Given the description of an element on the screen output the (x, y) to click on. 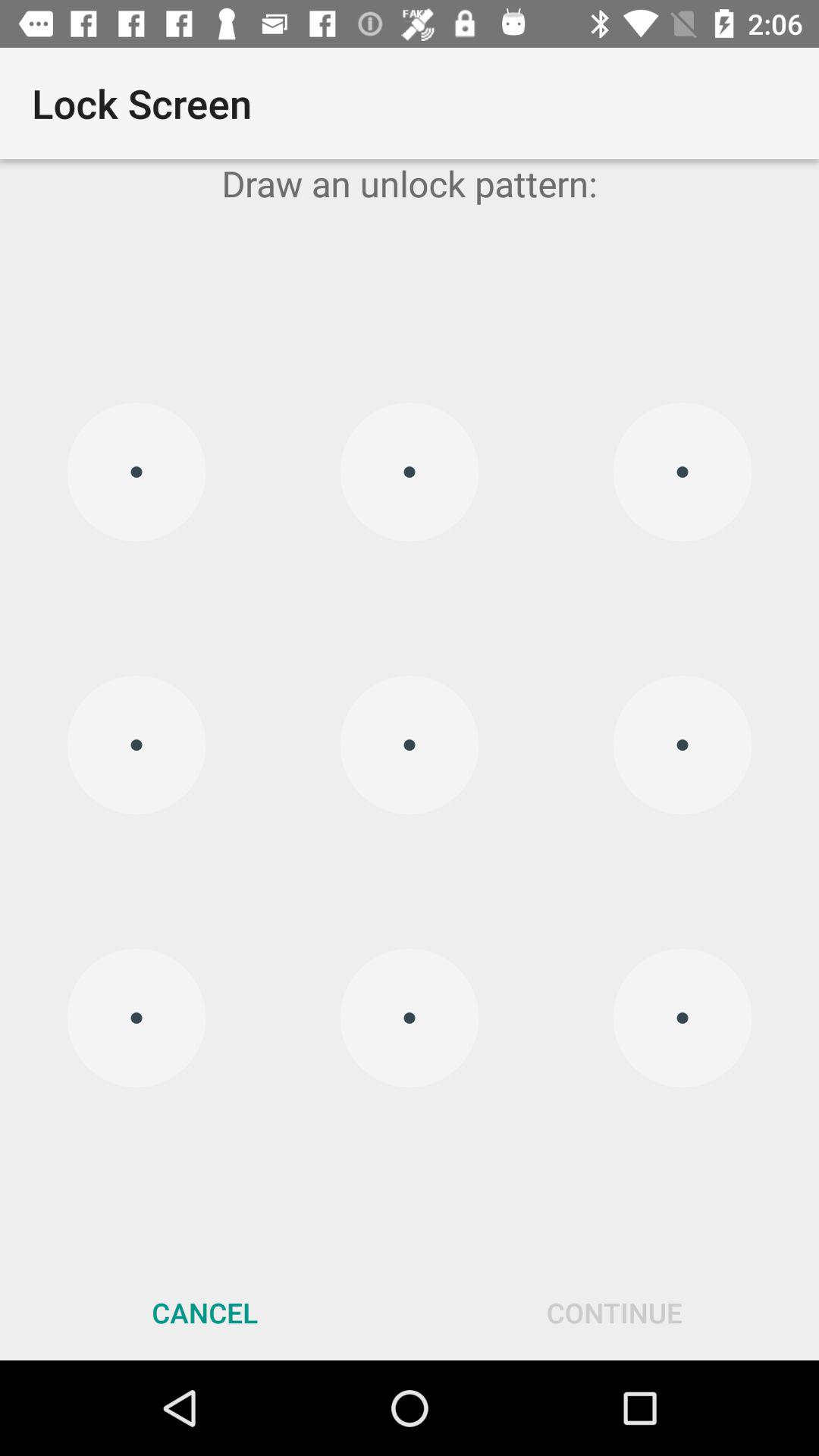
select icon at the center (409, 744)
